Given the description of an element on the screen output the (x, y) to click on. 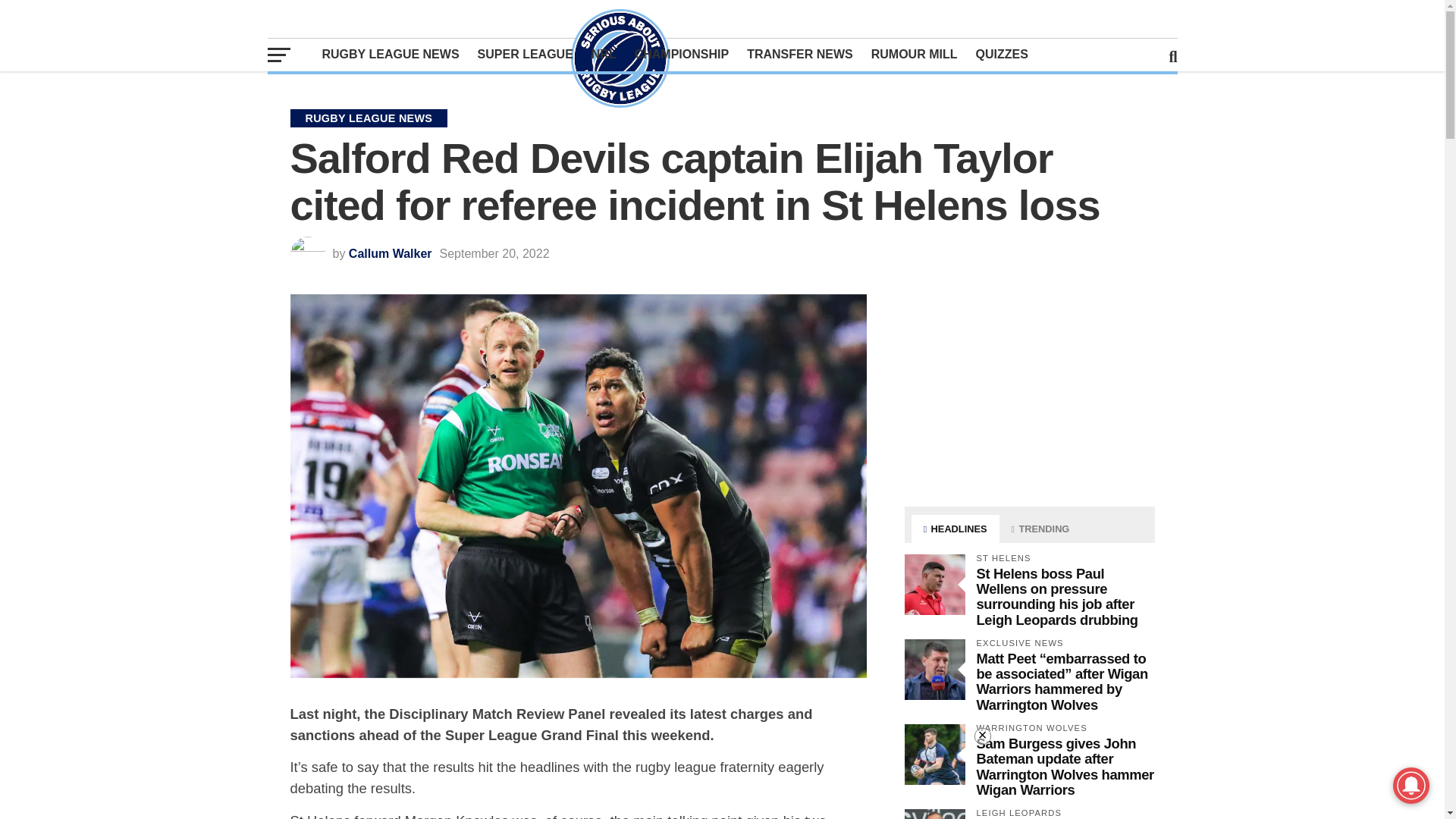
CHAMPIONSHIP (682, 54)
Posts by Callum Walker (390, 253)
RUGBY LEAGUE NEWS (390, 54)
SUPER LEAGUE (525, 54)
NRL (604, 54)
TRANSFER NEWS (799, 54)
